Given the description of an element on the screen output the (x, y) to click on. 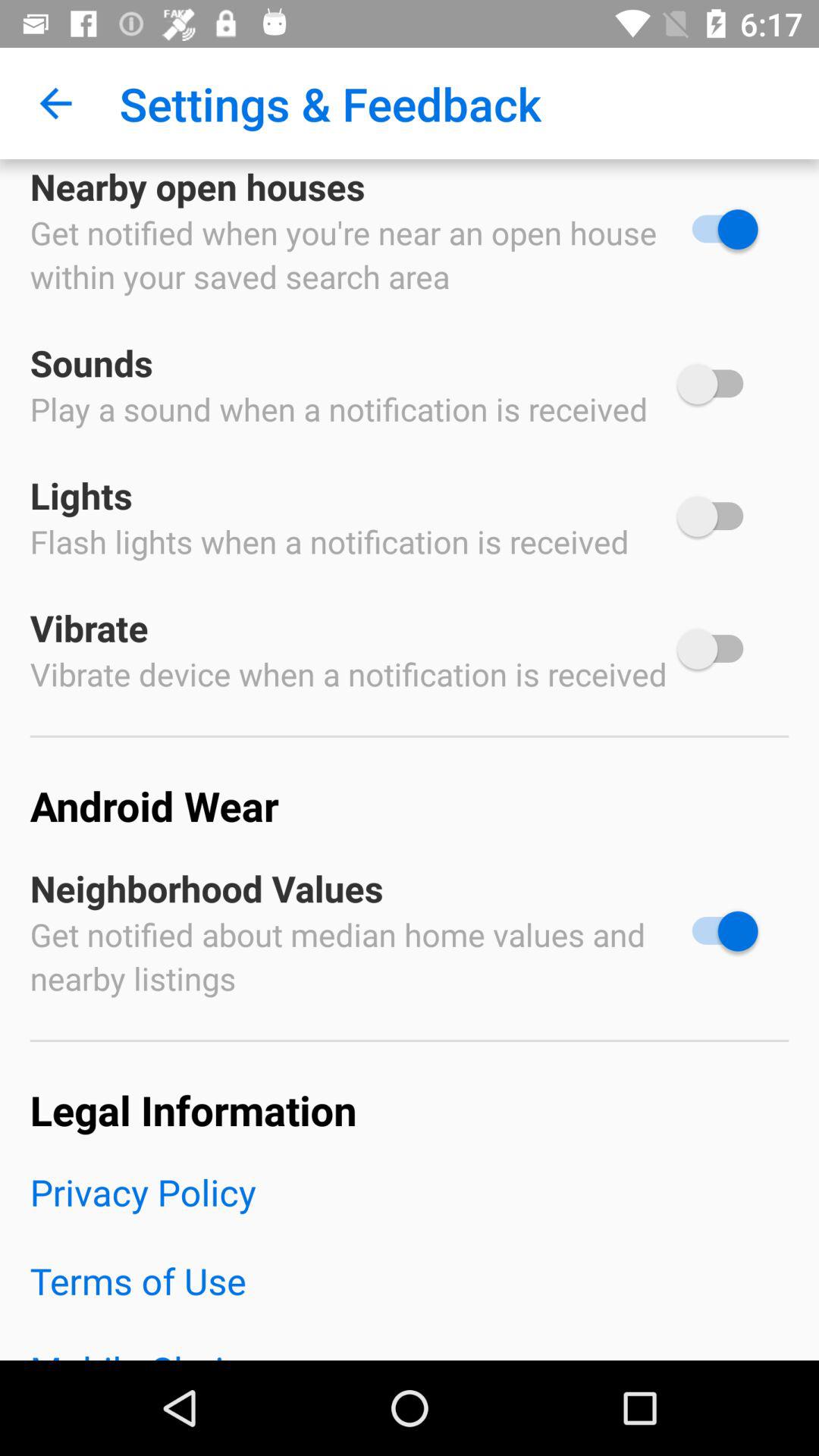
select the item next to settings & feedback app (55, 103)
